Given the description of an element on the screen output the (x, y) to click on. 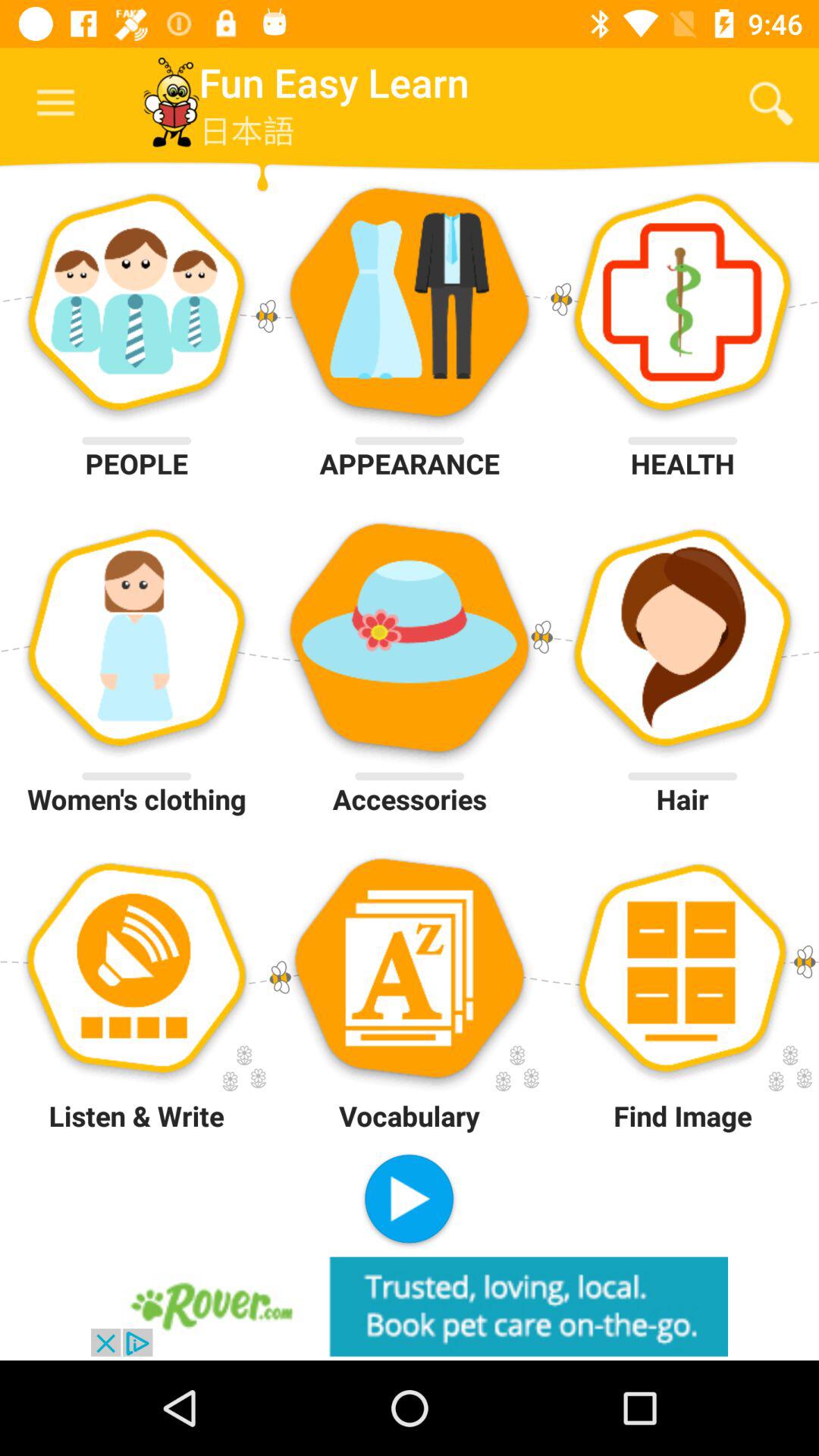
go to next page (408, 1200)
